Given the description of an element on the screen output the (x, y) to click on. 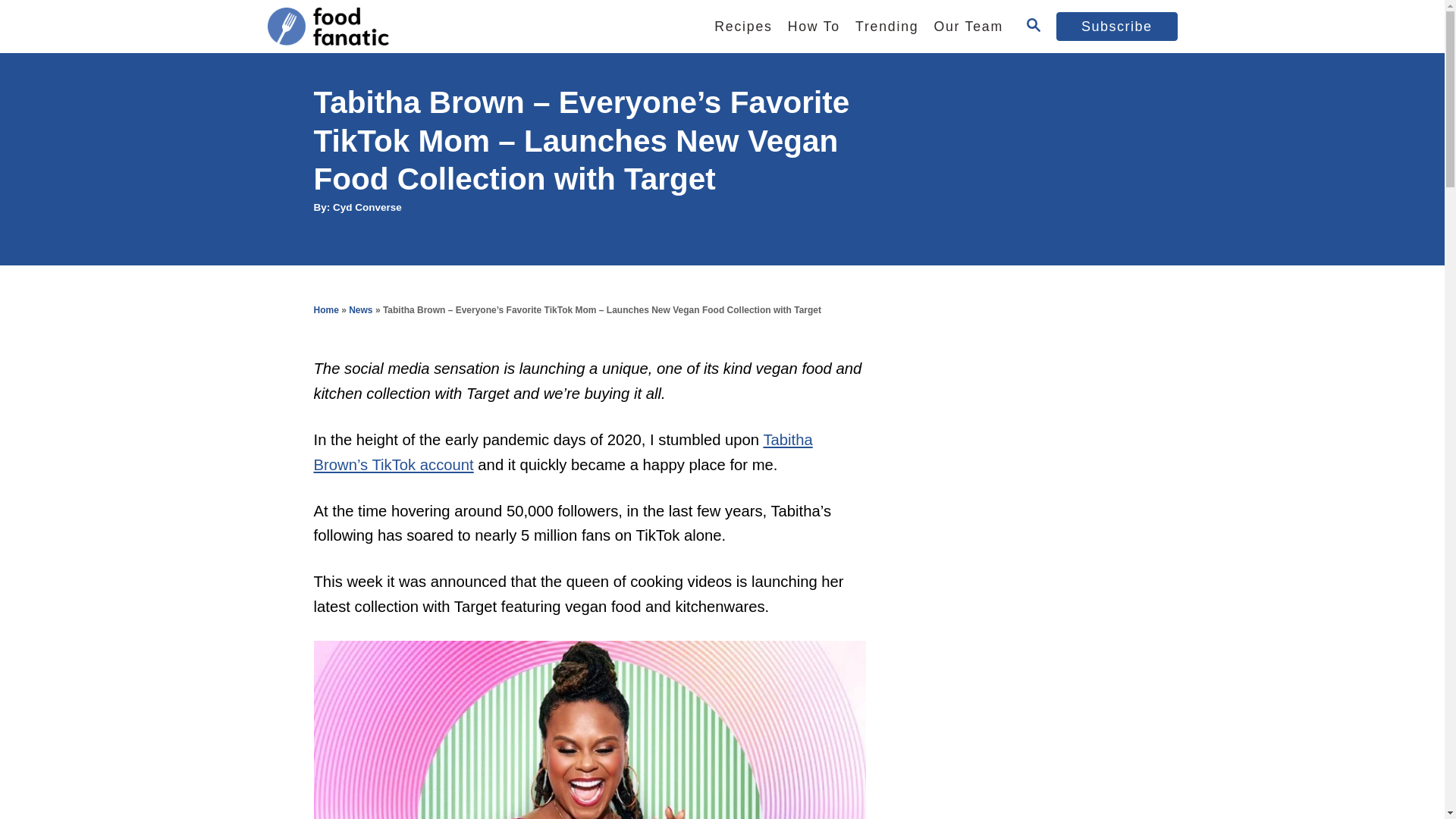
Recipes (742, 26)
Food Fanatic (403, 26)
SEARCH (1033, 26)
How To (813, 26)
